Given the description of an element on the screen output the (x, y) to click on. 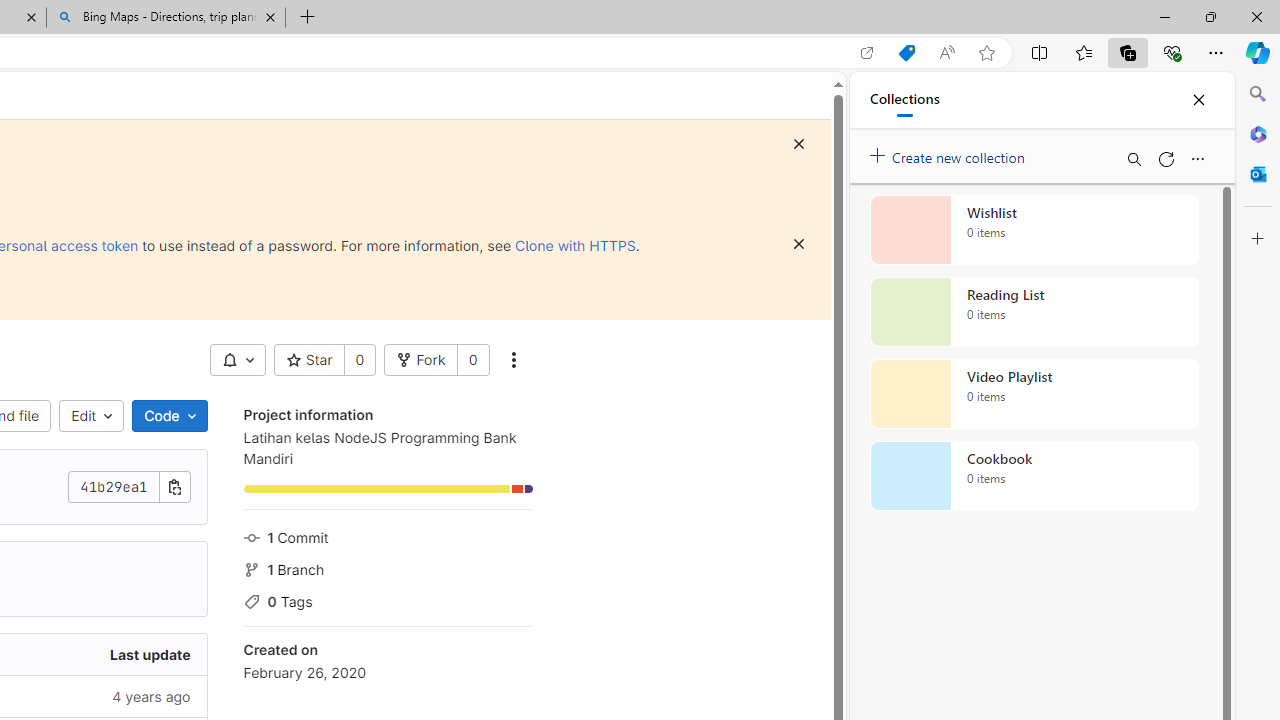
Close (1198, 99)
Refresh (1165, 158)
Add this page to favorites (Ctrl+D) (986, 53)
More actions (512, 359)
Dismiss (799, 243)
Customize (1258, 239)
AutomationID: __BVID__372__BV_toggle_ (237, 359)
0 Tags (387, 600)
Shopping in Microsoft Edge (906, 53)
Microsoft 365 (1258, 133)
Class: s16 gl-icon gl-button-icon  (798, 243)
Browser essentials (1171, 52)
Restore (1210, 16)
New Tab (308, 17)
